Given the description of an element on the screen output the (x, y) to click on. 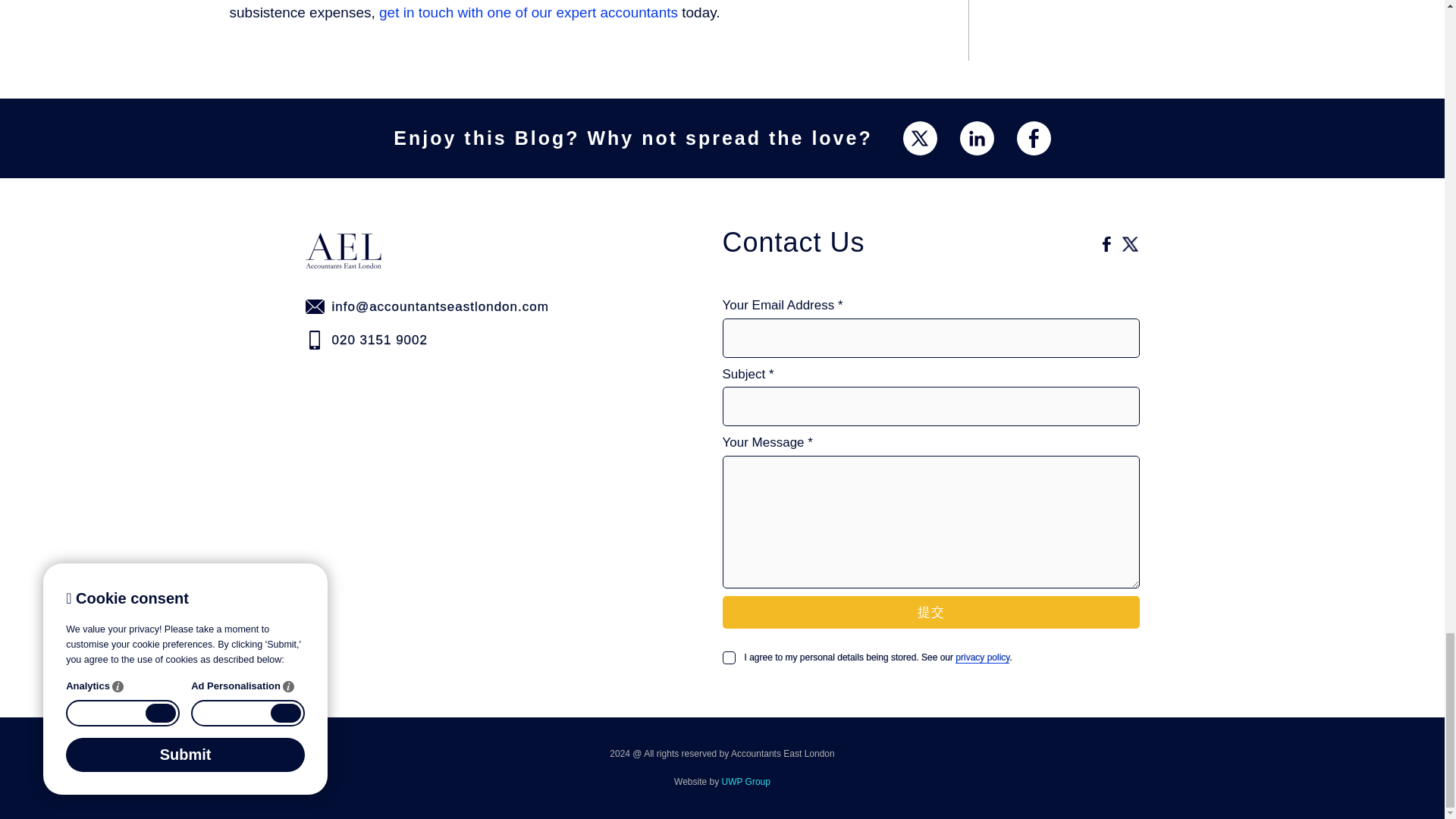
get in touch with one of our expert accountants (528, 12)
privacy policy (982, 657)
on (728, 657)
020 3151 9002 (471, 339)
UWP Group (746, 781)
